Given the description of an element on the screen output the (x, y) to click on. 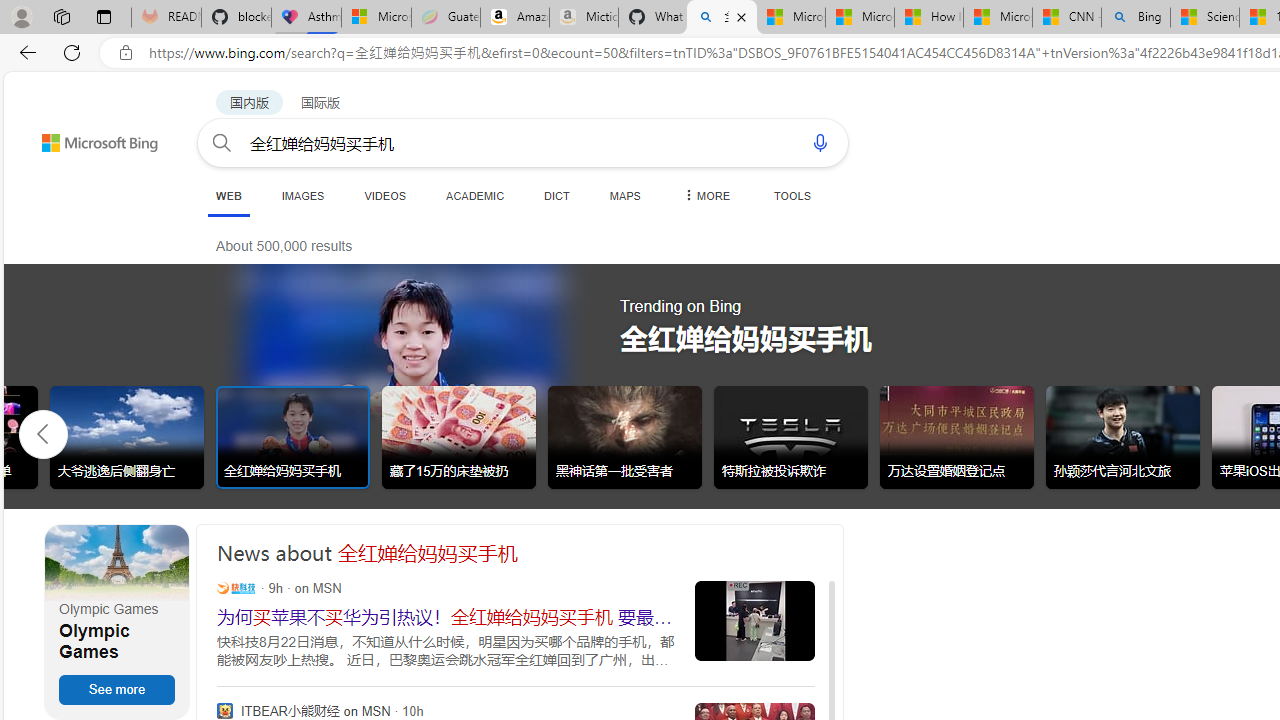
Science - MSN (1205, 17)
Dropdown Menu (705, 195)
Search button (221, 142)
WEB (228, 195)
Search using voice (820, 142)
